Given the description of an element on the screen output the (x, y) to click on. 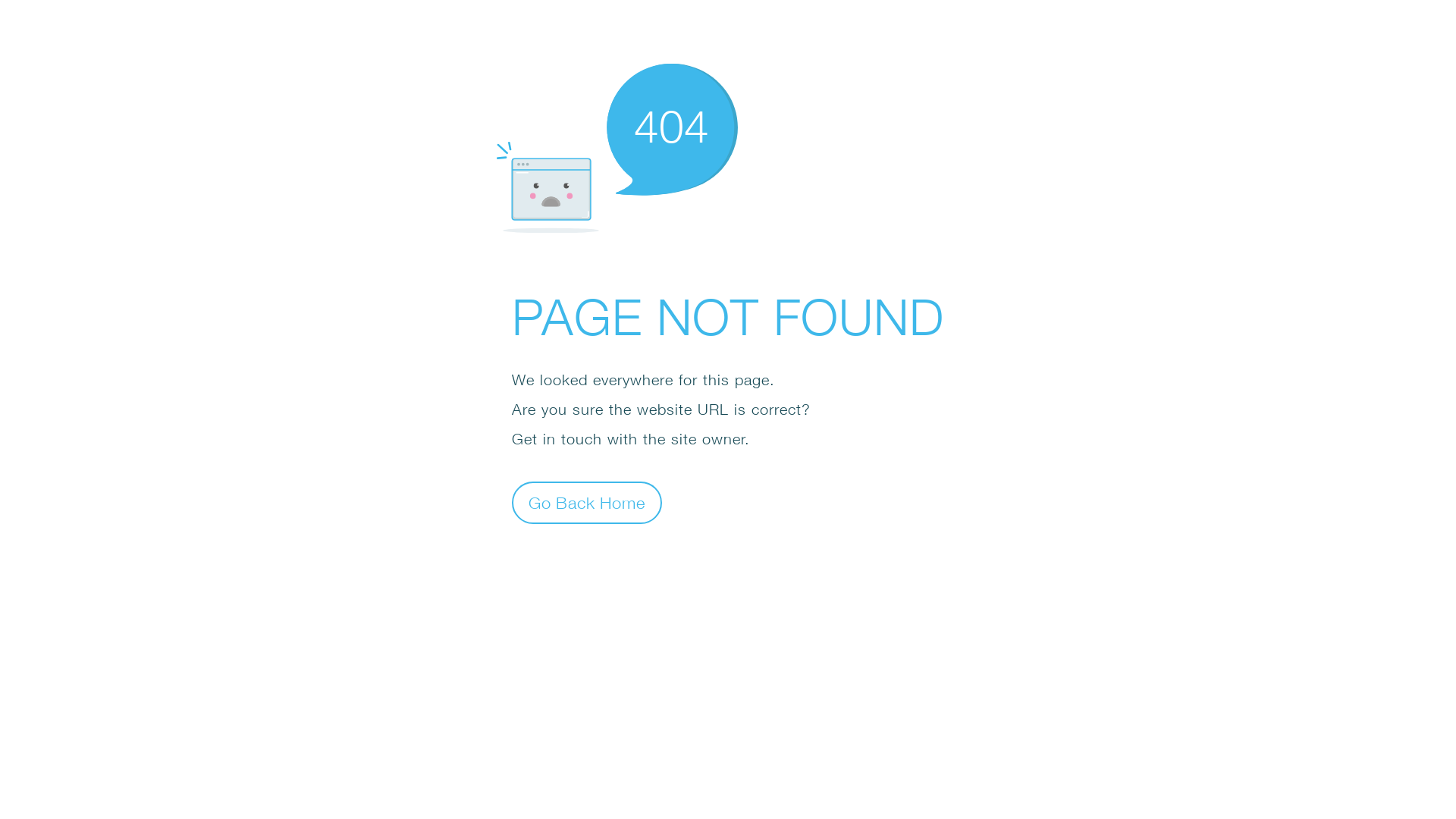
Go Back Home Element type: text (586, 502)
